Given the description of an element on the screen output the (x, y) to click on. 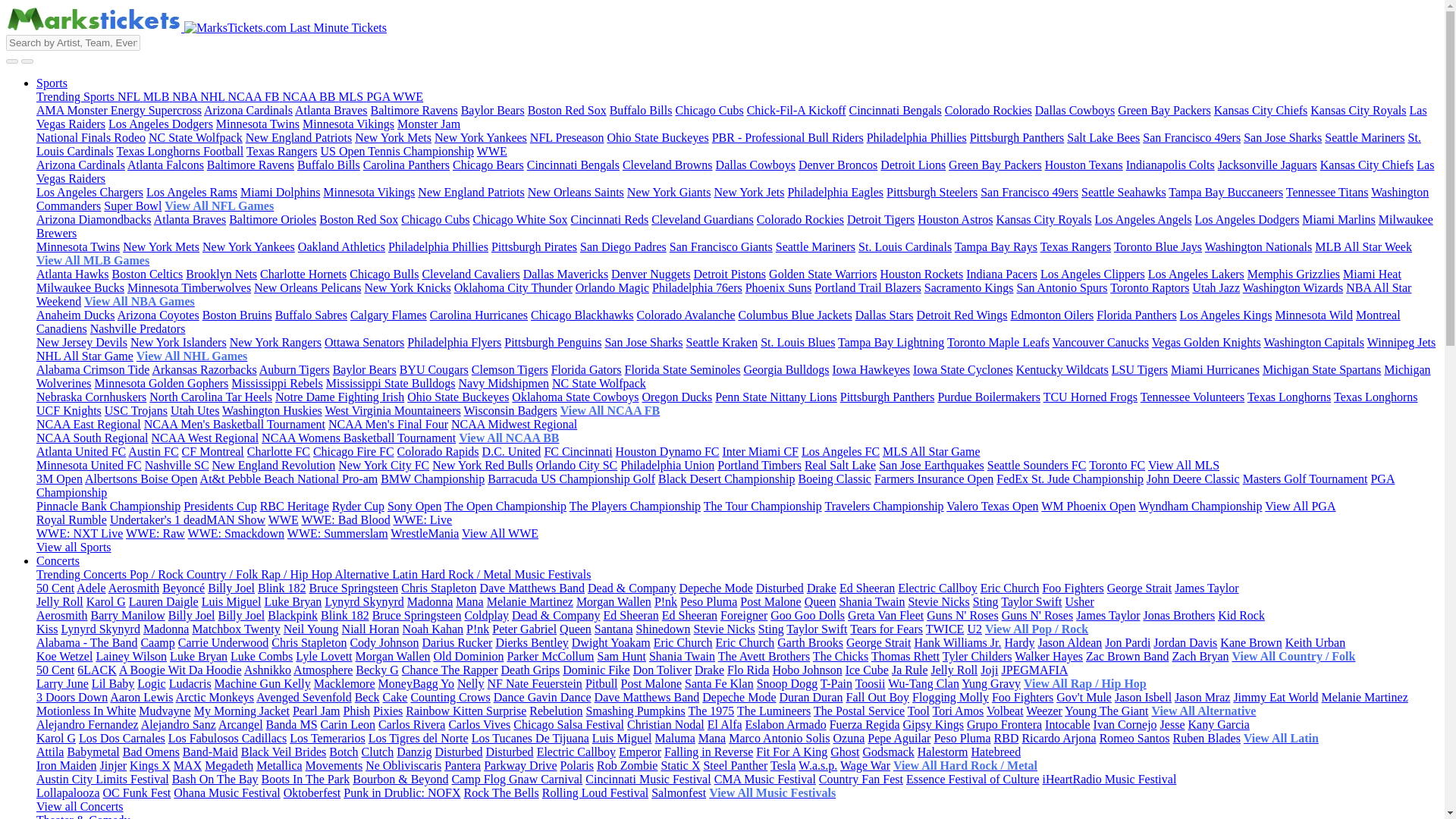
National Finals Rodeo (90, 137)
NFL Preseason (566, 137)
NCAA BB (310, 96)
Kansas City Royals (1358, 110)
NBA (185, 96)
Trending Sports (76, 96)
NC State Wolfpack (195, 137)
New England Patriots (299, 137)
Minnesota Twins (257, 123)
Chicago Cubs (708, 110)
New York Yankees (480, 137)
Minnesota Vikings (348, 123)
Buffalo Bills (641, 110)
NHL (213, 96)
WWE (408, 96)
